Given the description of an element on the screen output the (x, y) to click on. 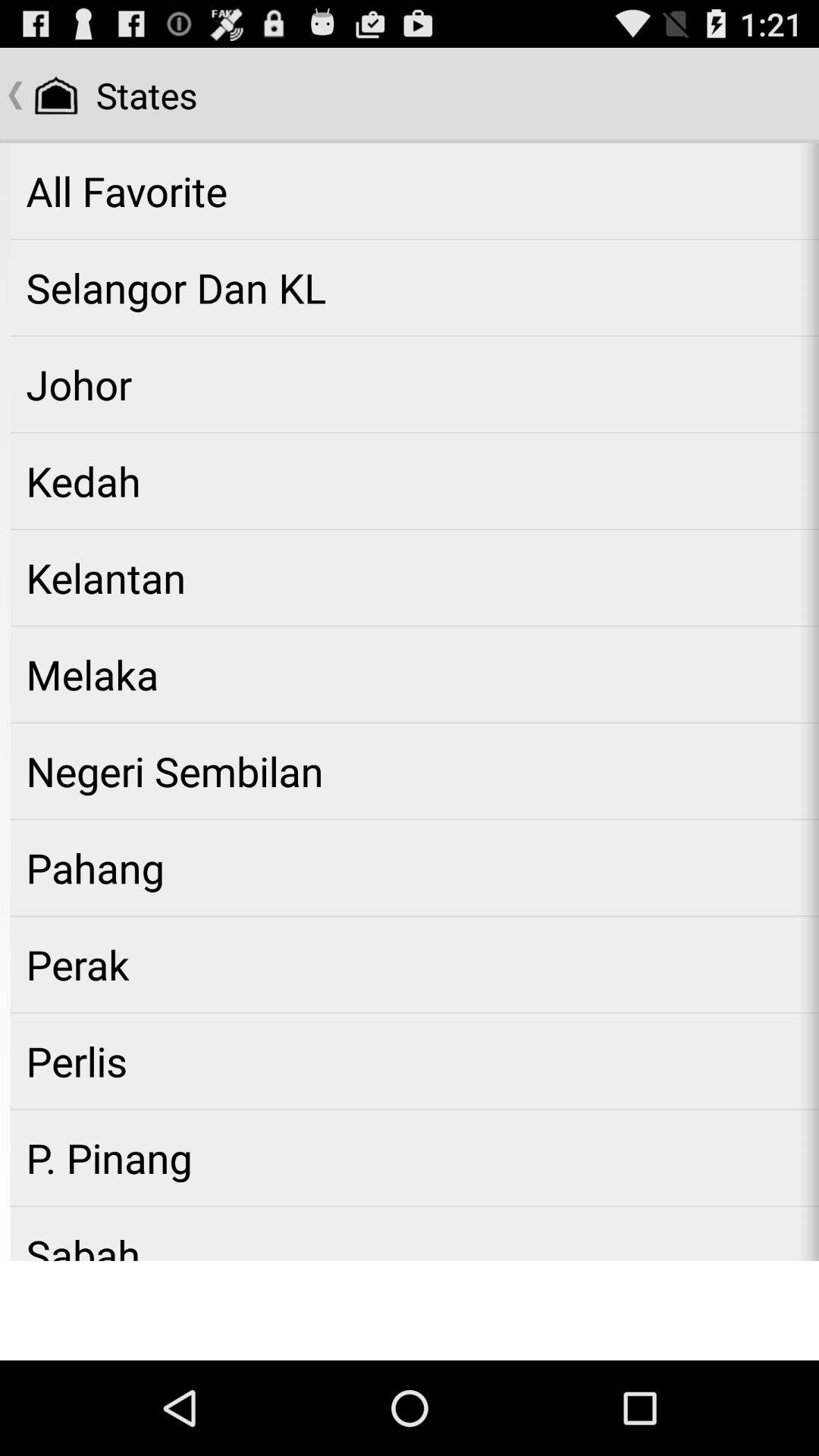
select the negeri sembilan item (414, 771)
